Given the description of an element on the screen output the (x, y) to click on. 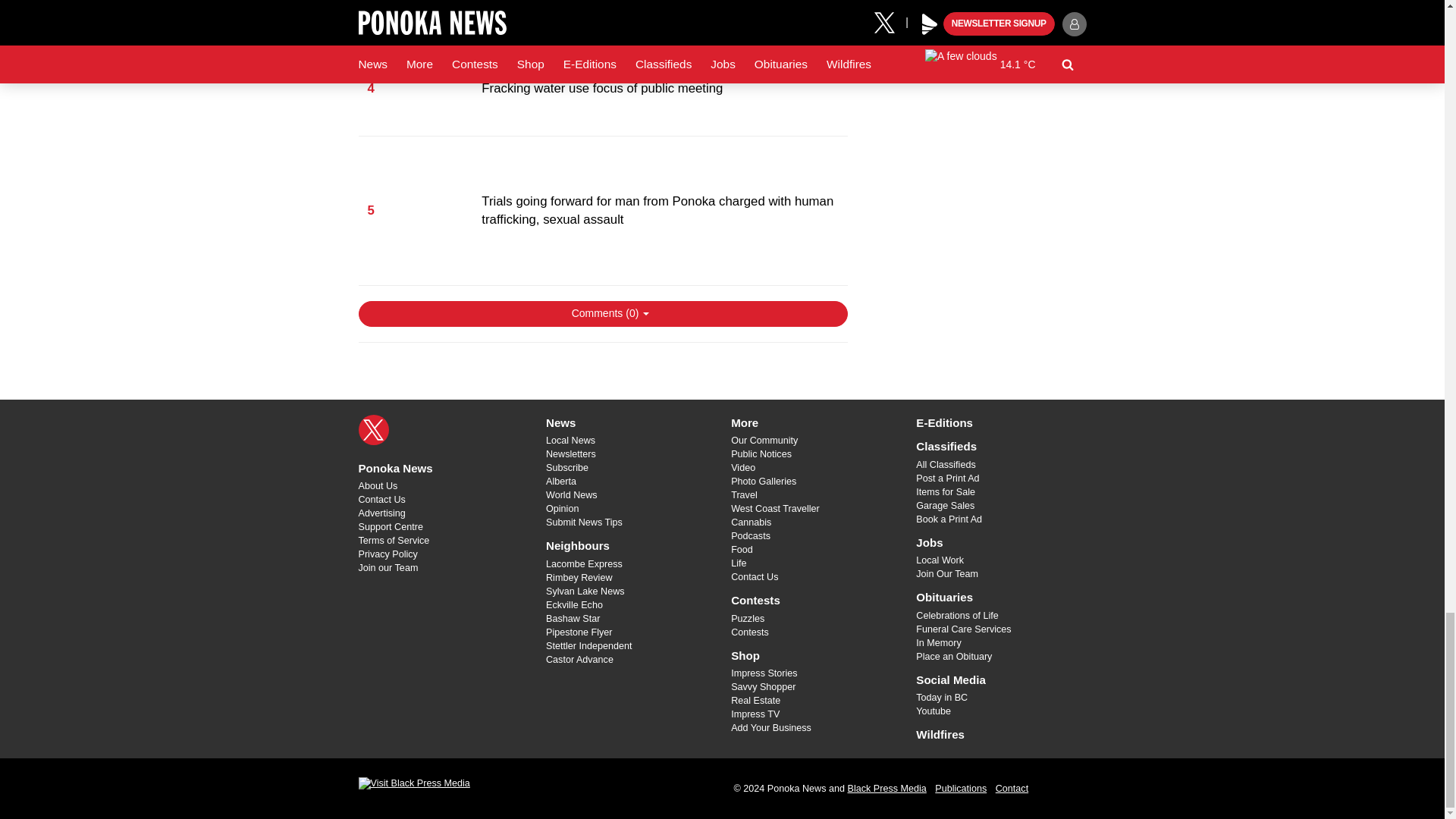
X (373, 429)
Show Comments (602, 313)
